Given the description of an element on the screen output the (x, y) to click on. 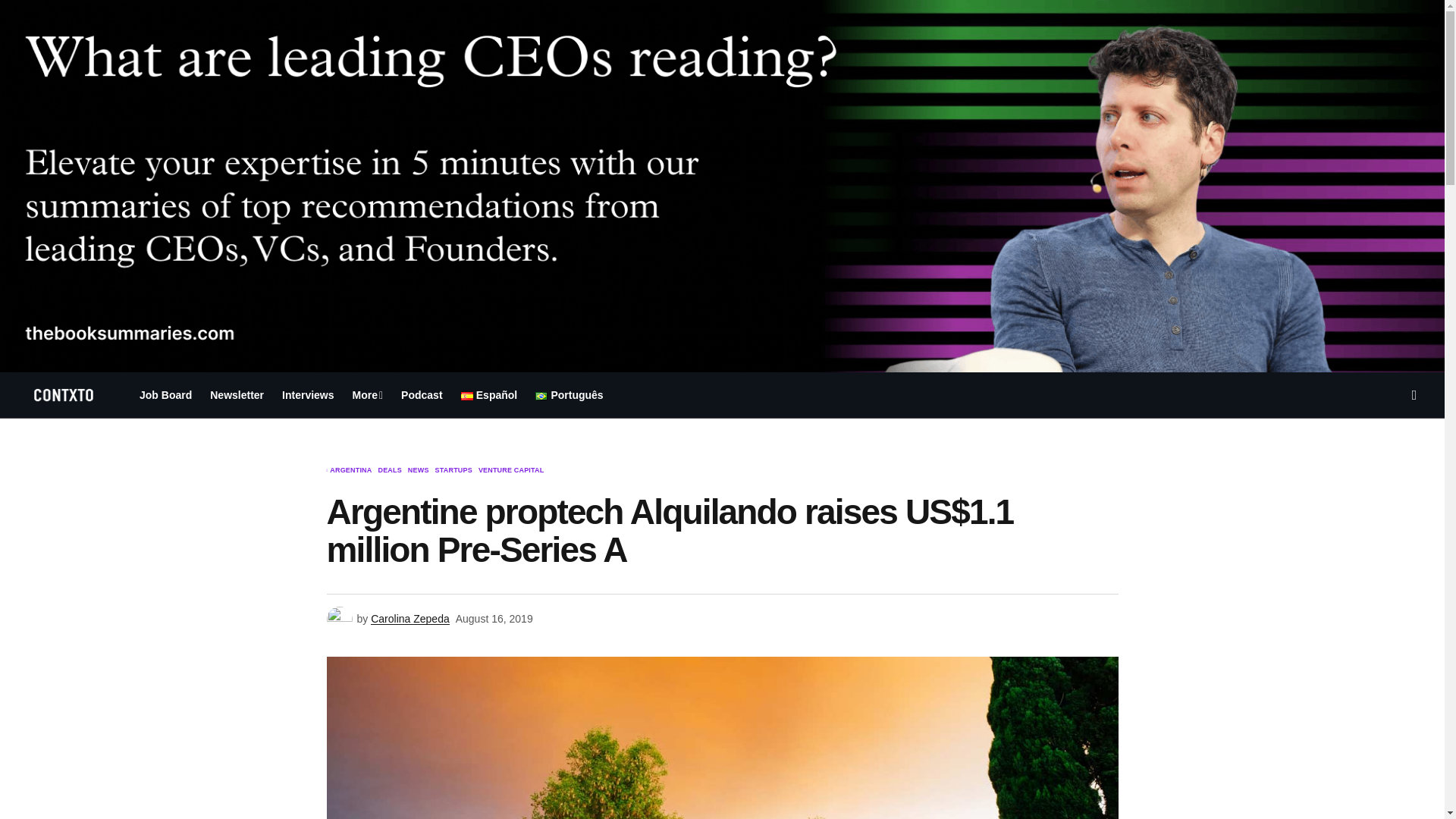
More (368, 394)
NEWS (418, 470)
VENTURE CAPITAL (511, 470)
Job Board (165, 394)
Newsletter (236, 394)
STARTUPS (453, 470)
Interviews (307, 394)
ARGENTINA (350, 470)
DEALS (389, 470)
Podcast (421, 394)
